Given the description of an element on the screen output the (x, y) to click on. 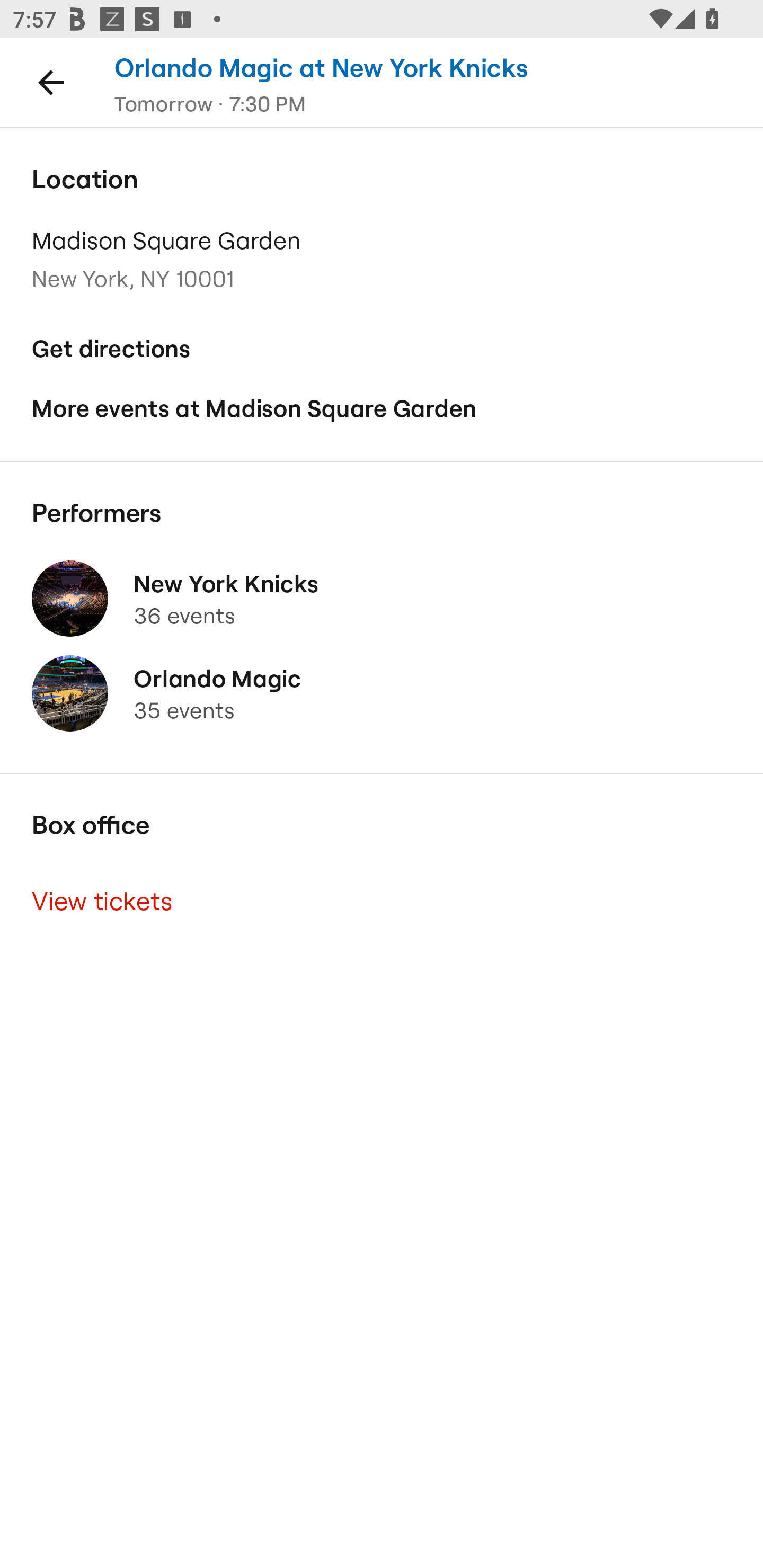
Back (50, 81)
Get directions (381, 348)
More events at Madison Square Garden (381, 409)
New York Knicks 36 events (381, 598)
Orlando Magic 35 events (381, 693)
View tickets (381, 901)
